Given the description of an element on the screen output the (x, y) to click on. 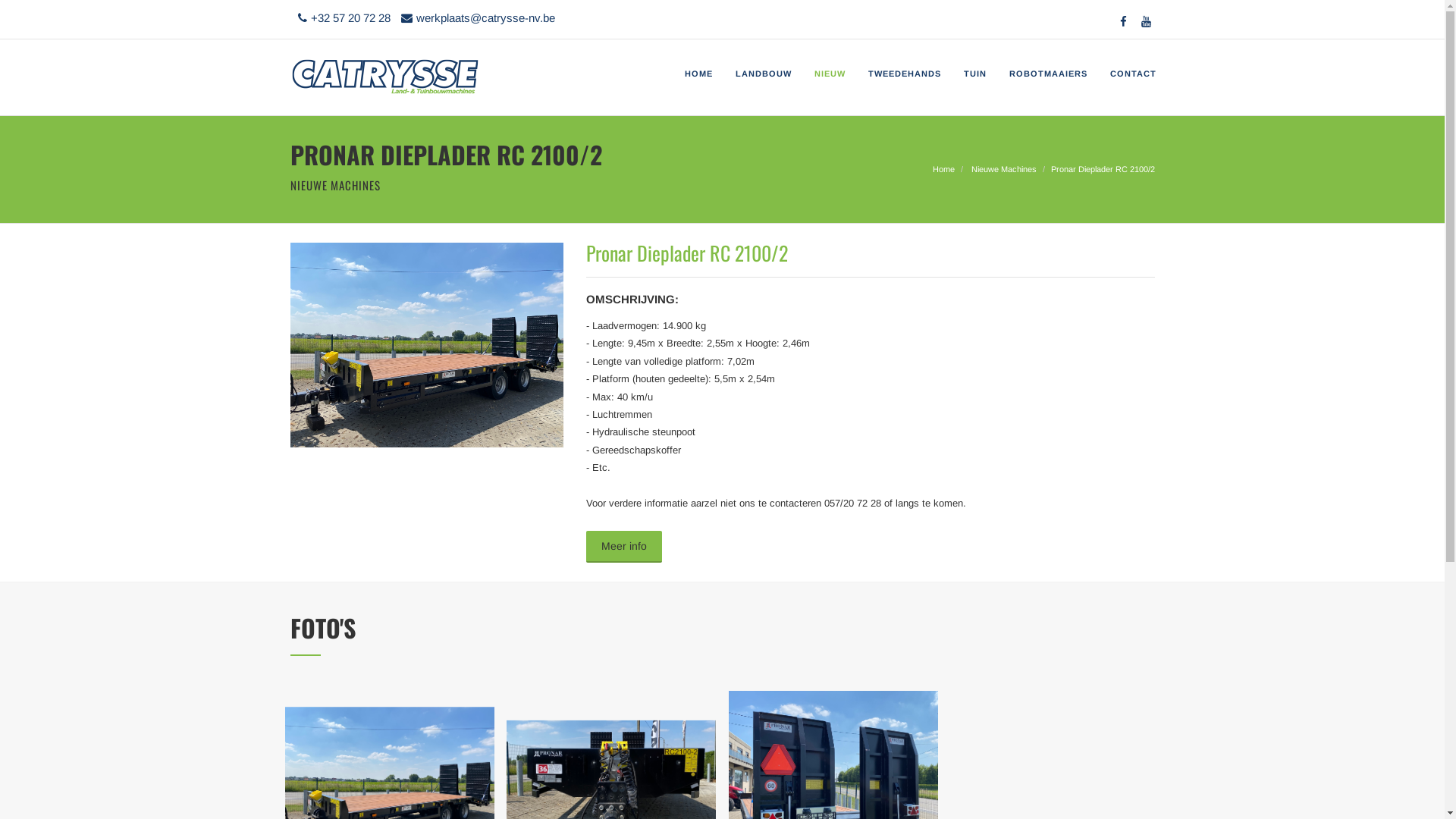
Meer info Element type: text (623, 546)
werkplaats@catrysse-nv.be Element type: text (473, 17)
NIEUW Element type: text (829, 73)
ROBOTMAAIERS Element type: text (1047, 73)
TUIN Element type: text (974, 73)
CONTACT Element type: text (1126, 73)
Home Element type: text (943, 168)
Nieuwe Machines Element type: text (1002, 168)
TWEEDEHANDS Element type: text (904, 73)
+32 57 20 72 28 Element type: text (339, 17)
LANDBOUW Element type: text (762, 73)
HOME Element type: text (698, 73)
